Given the description of an element on the screen output the (x, y) to click on. 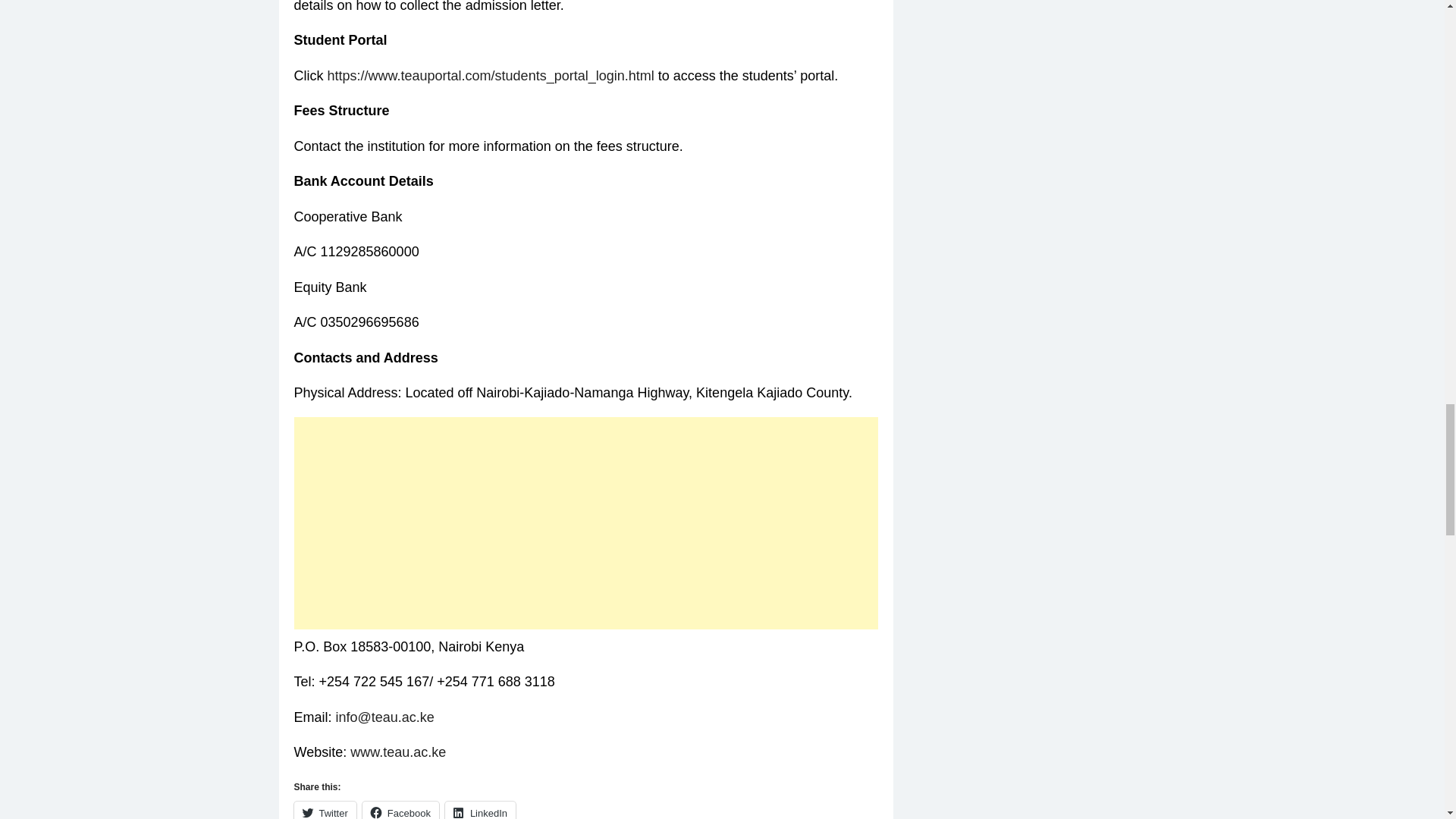
Click to share on LinkedIn (480, 810)
Twitter (325, 810)
LinkedIn (480, 810)
www.teau.ac.ke (397, 752)
Click to share on Twitter (325, 810)
Facebook (400, 810)
Advertisement (585, 522)
Click to share on Facebook (400, 810)
